Given the description of an element on the screen output the (x, y) to click on. 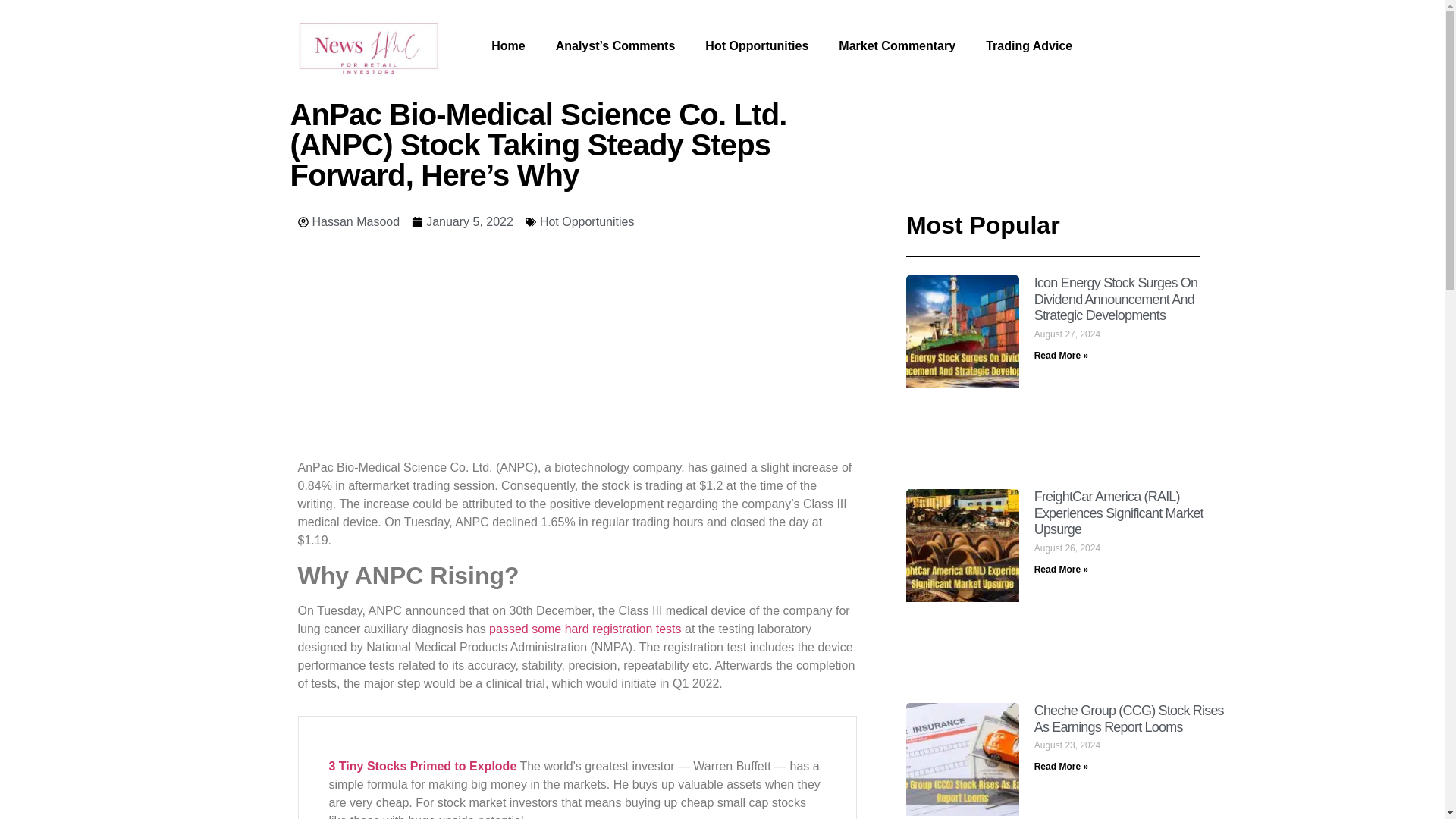
3 Tiny Stocks Primed to Explode (422, 766)
Home (508, 45)
Hassan Masood (347, 221)
Market Commentary (897, 45)
Trading Advice (1029, 45)
Hot Opportunities (587, 221)
passed some hard registration tests (585, 628)
Hot Opportunities (757, 45)
Advertisement (576, 352)
